Given the description of an element on the screen output the (x, y) to click on. 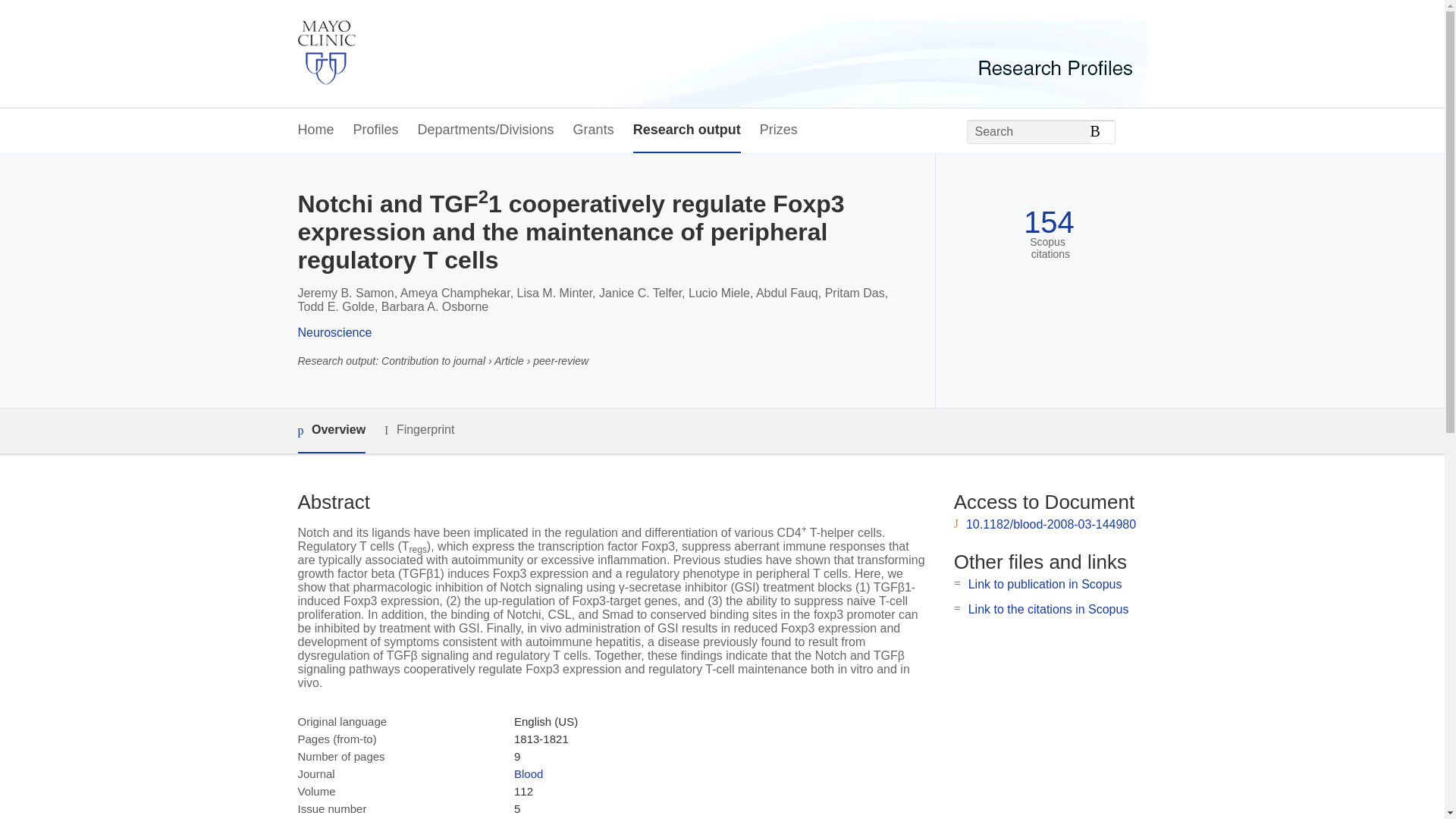
Profiles (375, 130)
Mayo Clinic Home (326, 53)
Fingerprint (419, 430)
Neuroscience (334, 332)
Link to the citations in Scopus (1048, 608)
Home (315, 130)
Prizes (778, 130)
Research output (687, 130)
154 (1048, 222)
Grants (593, 130)
Overview (331, 430)
Blood (528, 773)
Link to publication in Scopus (1045, 584)
